Given the description of an element on the screen output the (x, y) to click on. 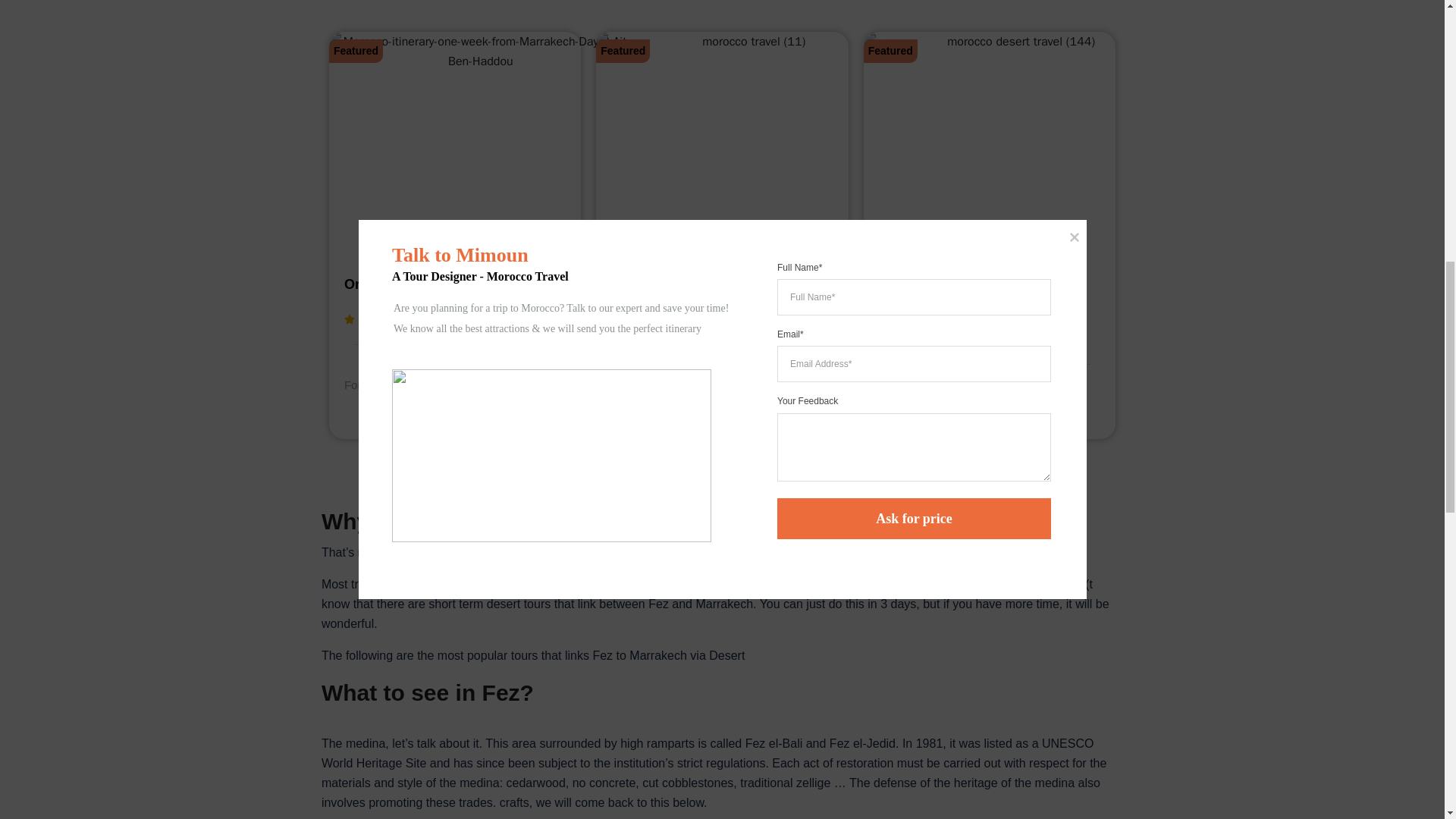
All Tours from Fes (722, 476)
One Week In Morocco Itinerary (443, 283)
4 Days Tour From Fes To Marrakech (960, 294)
5 Days Tour From Fes To Marrakech (692, 294)
